Given the description of an element on the screen output the (x, y) to click on. 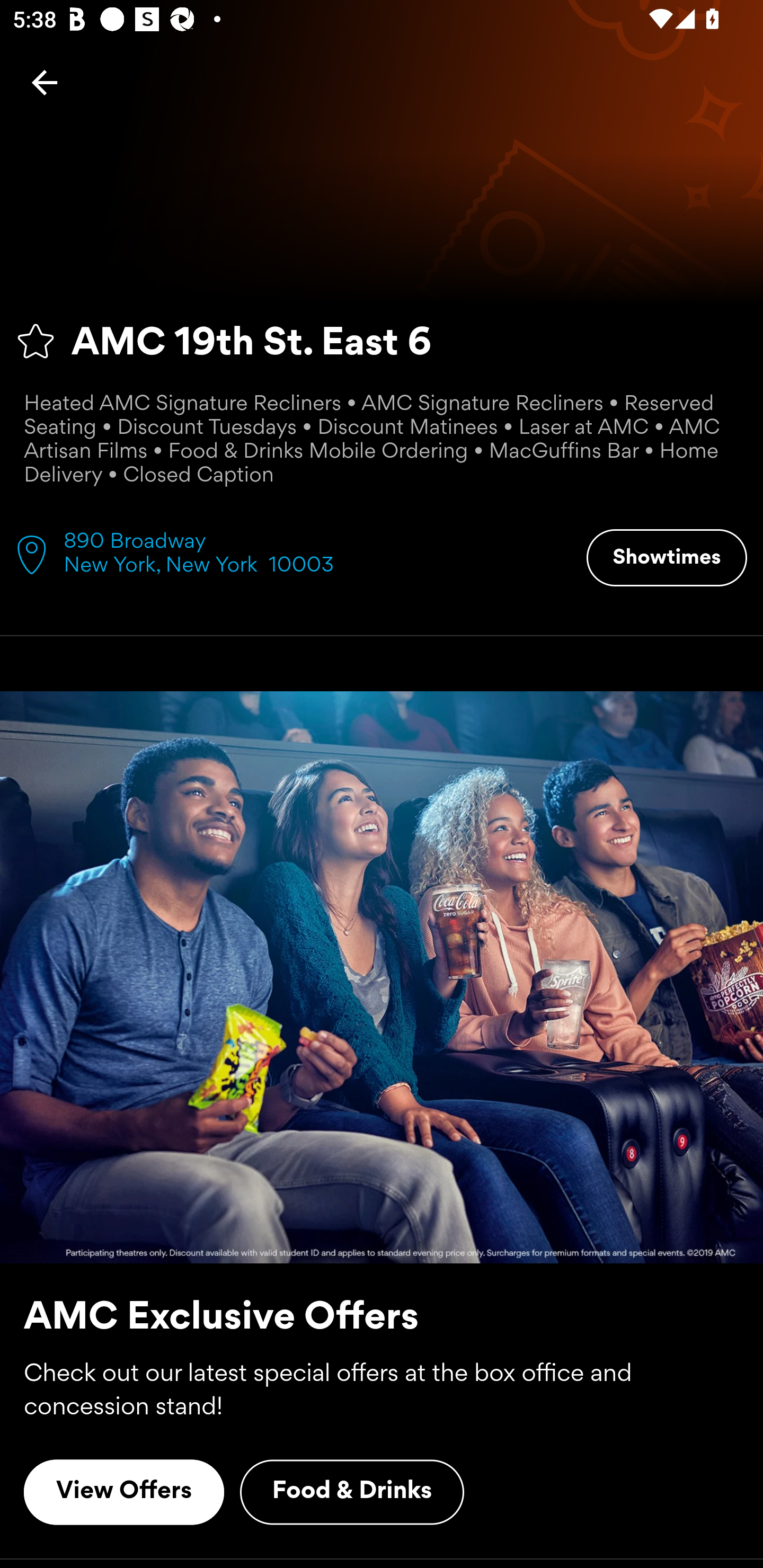
Back (44, 82)
AMC 19th St. East 6 (381, 340)
890 Broadway  
New York, New York  10003 Showtimes (381, 553)
Showtimes (666, 557)
View Offers (123, 1491)
Food & Drinks (351, 1491)
